Given the description of an element on the screen output the (x, y) to click on. 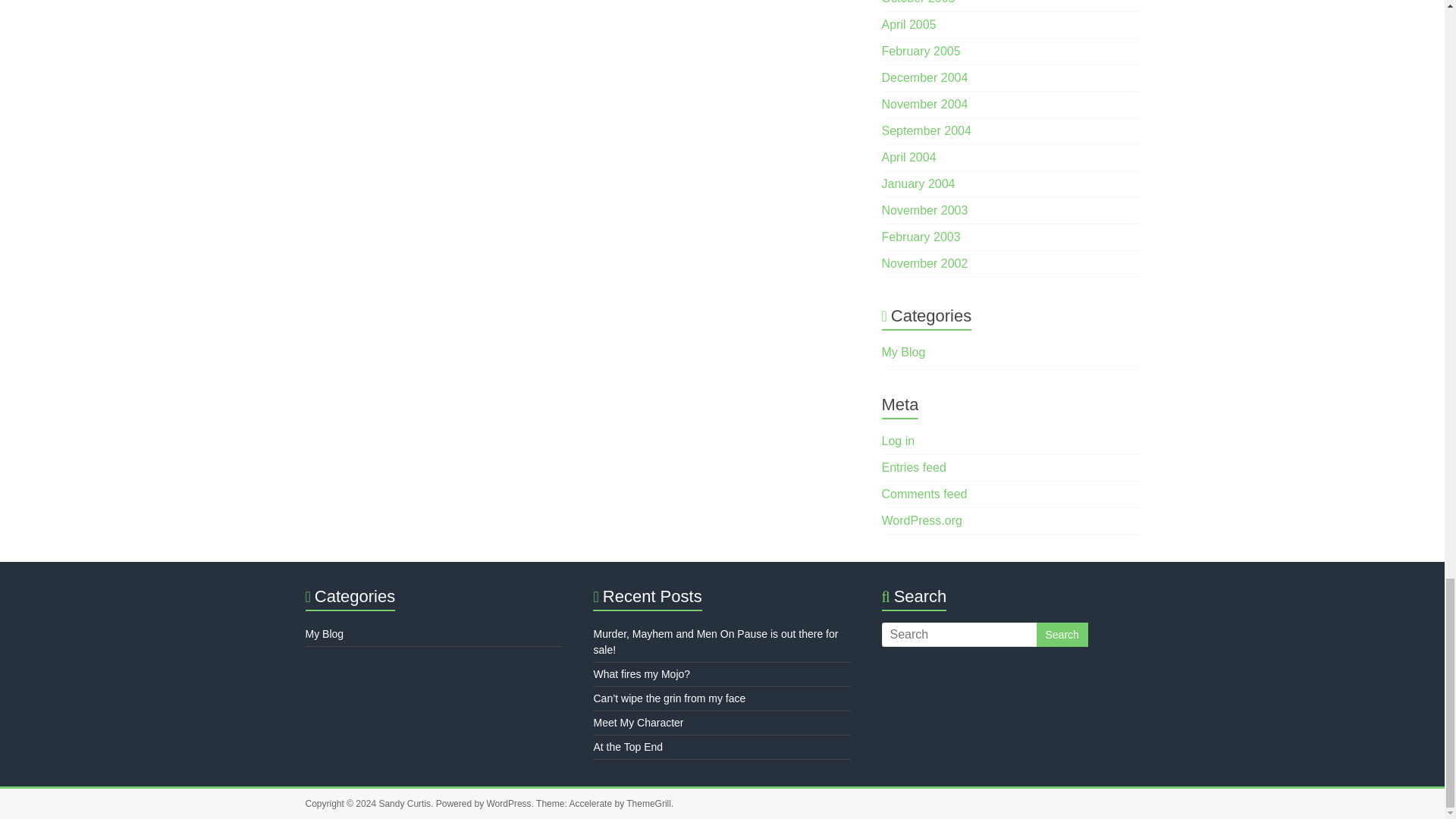
ThemeGrill (648, 803)
Sandy Curtis (404, 803)
WordPress (508, 803)
Search (1061, 634)
